Given the description of an element on the screen output the (x, y) to click on. 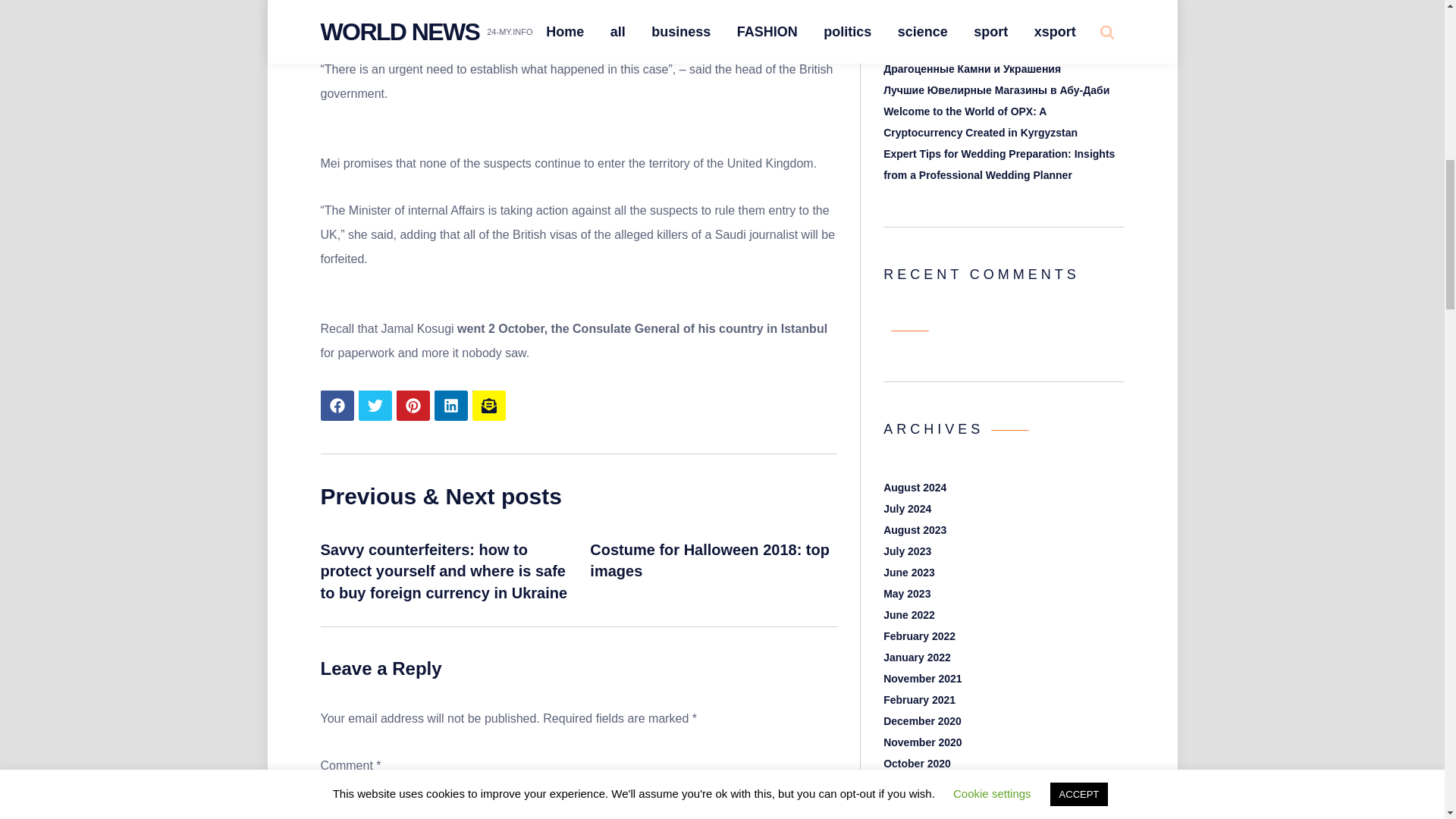
February 2022 (919, 635)
Costume for Halloween 2018: top images (709, 560)
August 2023 (914, 530)
June 2022 (908, 614)
August 2024 (914, 487)
June 2023 (908, 572)
July 2024 (907, 508)
May 2023 (906, 593)
